Given the description of an element on the screen output the (x, y) to click on. 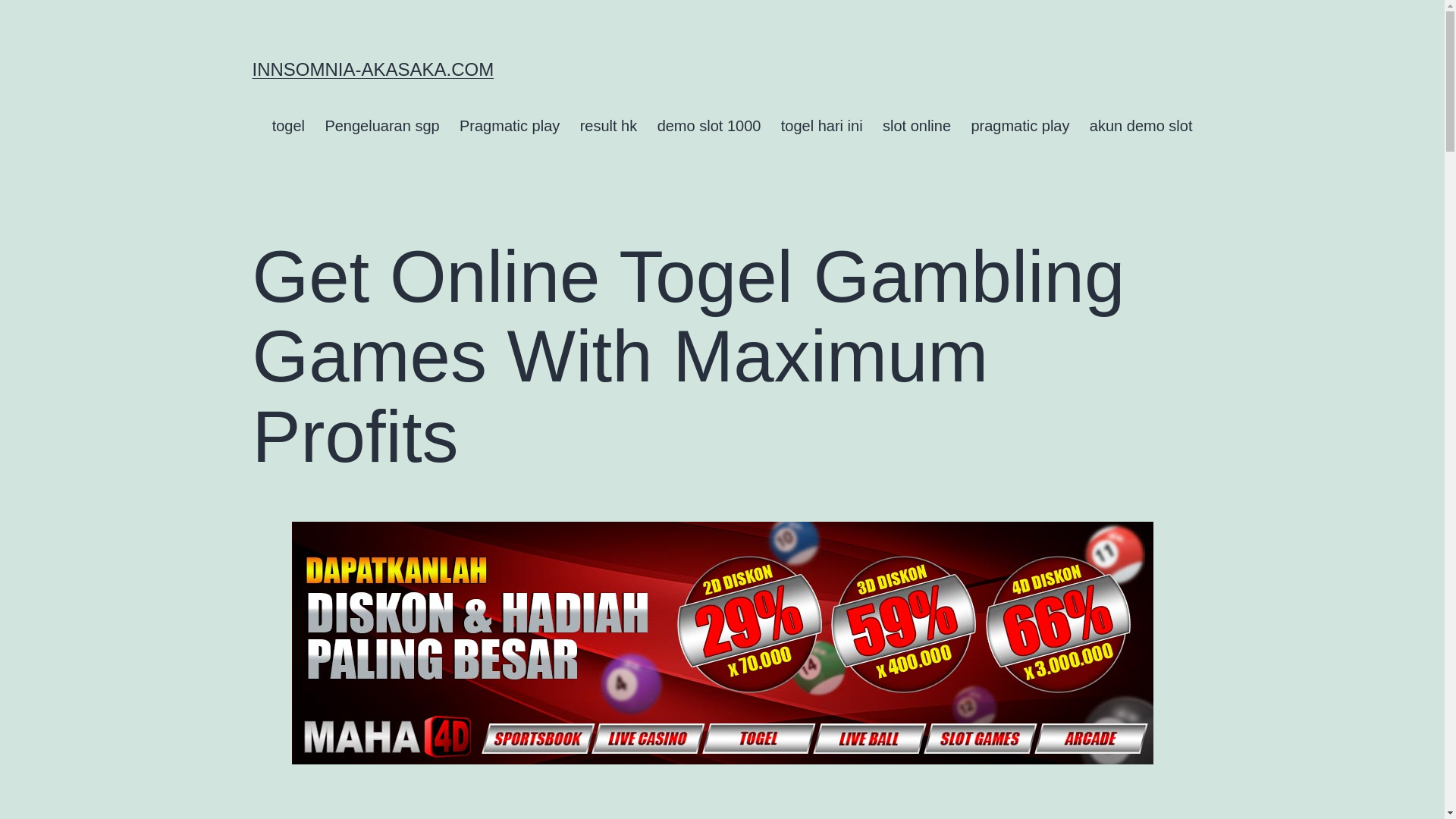
Pengeluaran sgp (381, 125)
togel hari ini (821, 125)
Pragmatic play (509, 125)
akun demo slot (1141, 125)
result hk (607, 125)
slot online (916, 125)
INNSOMNIA-AKASAKA.COM (372, 68)
pragmatic play (1019, 125)
togel (288, 125)
demo slot 1000 (708, 125)
